Given the description of an element on the screen output the (x, y) to click on. 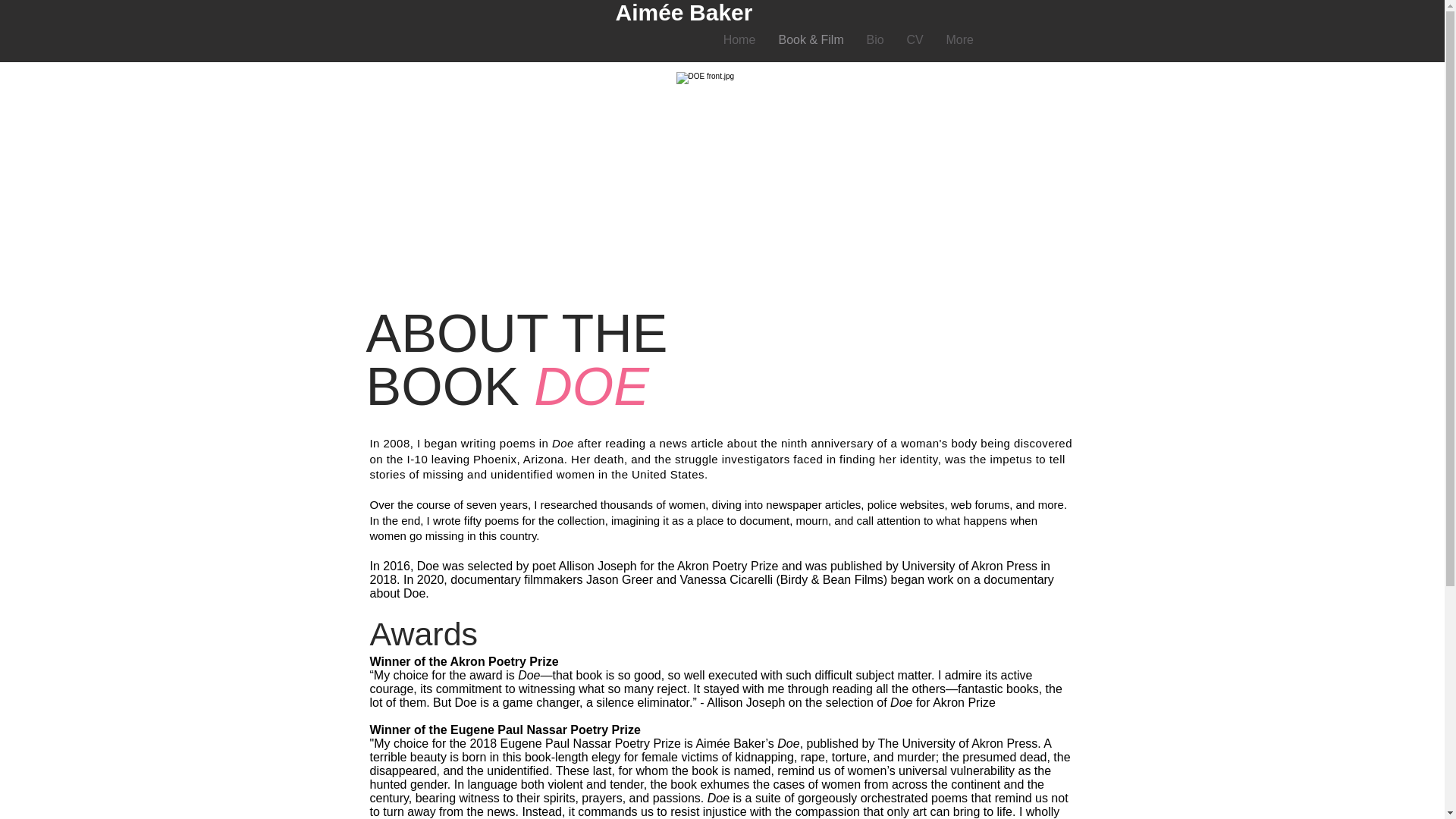
Home (739, 39)
Baker (720, 12)
Bio (875, 39)
